Given the description of an element on the screen output the (x, y) to click on. 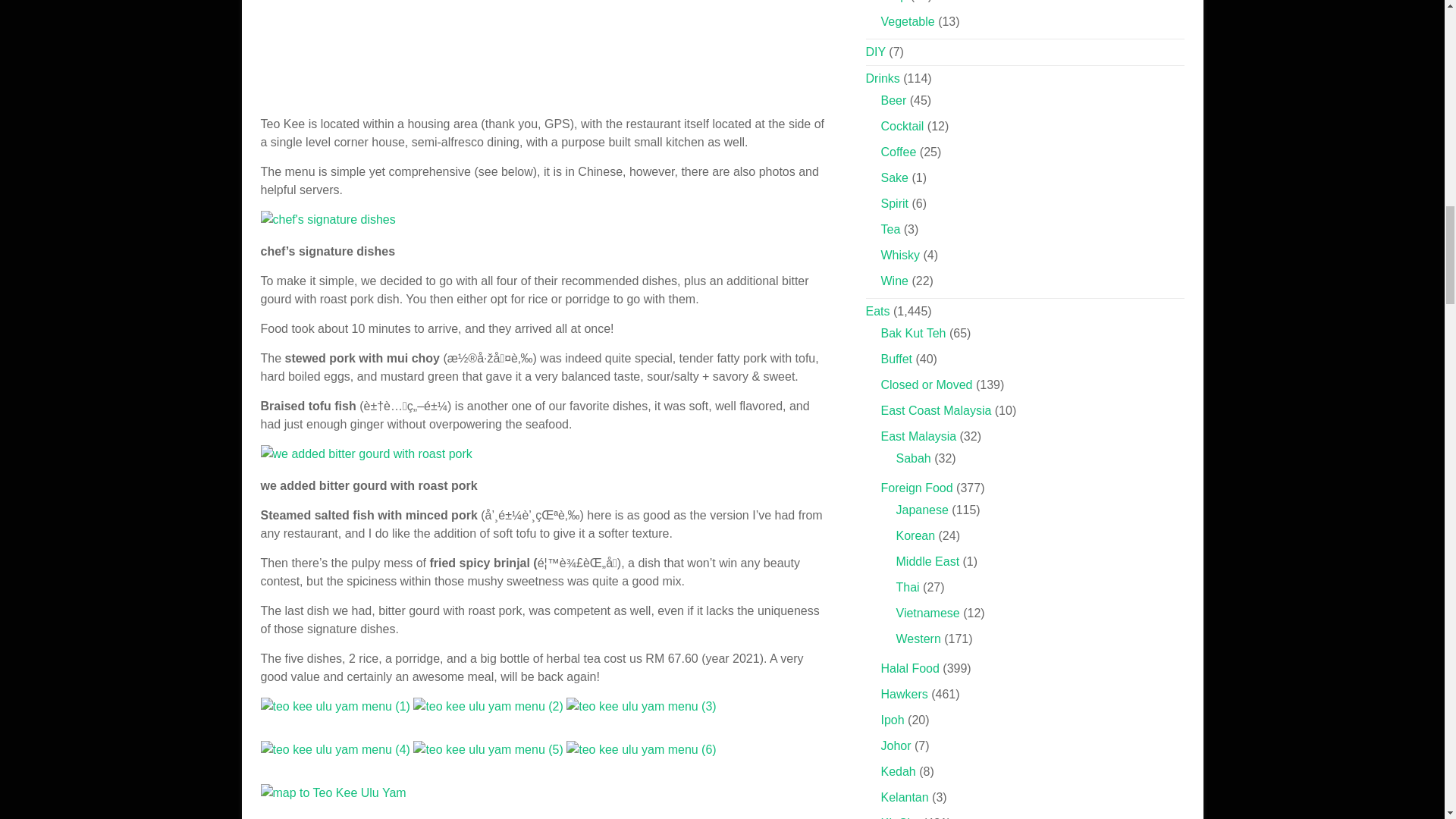
YouTube video player (472, 49)
